Given the description of an element on the screen output the (x, y) to click on. 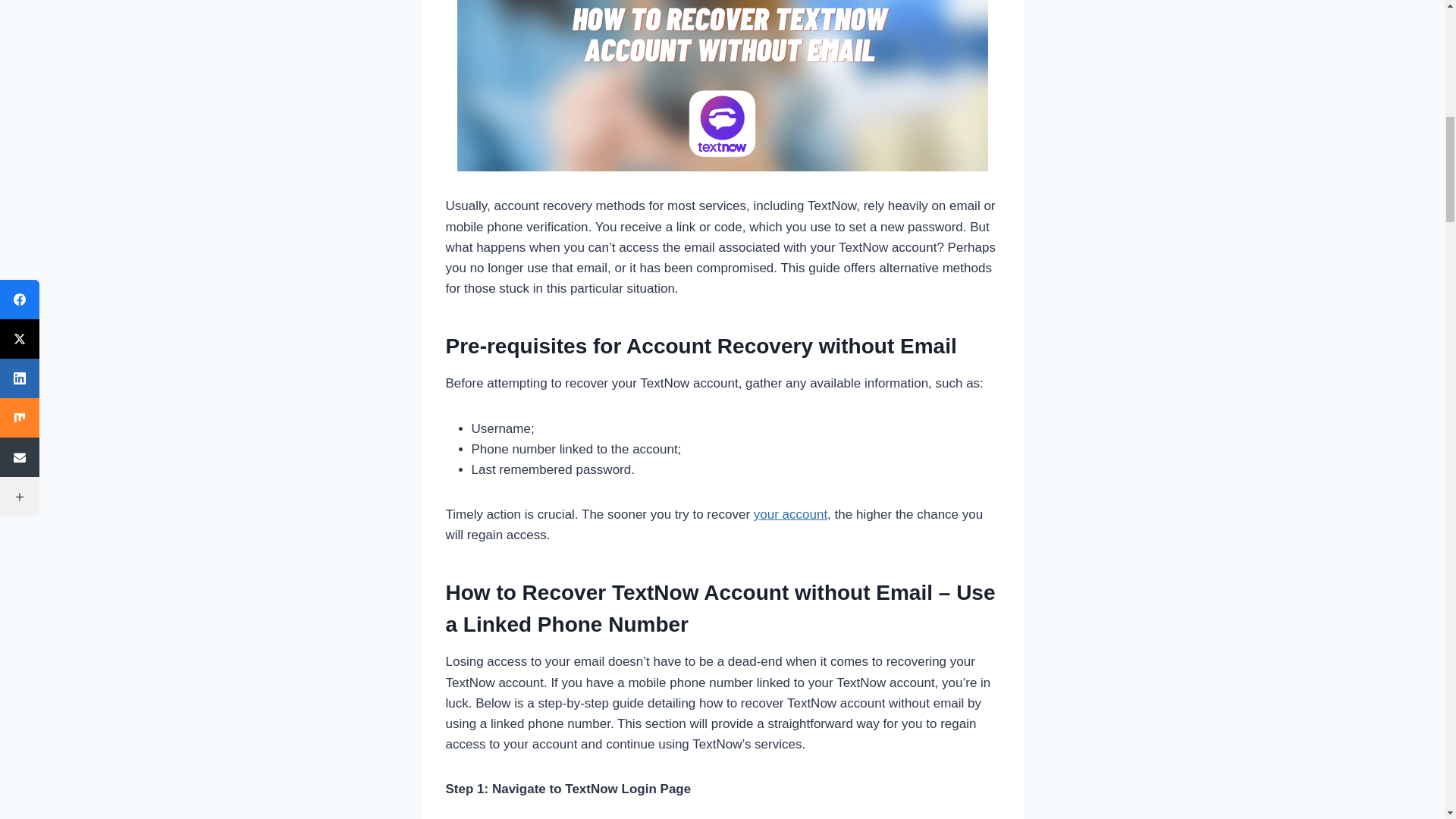
your account (790, 513)
